Given the description of an element on the screen output the (x, y) to click on. 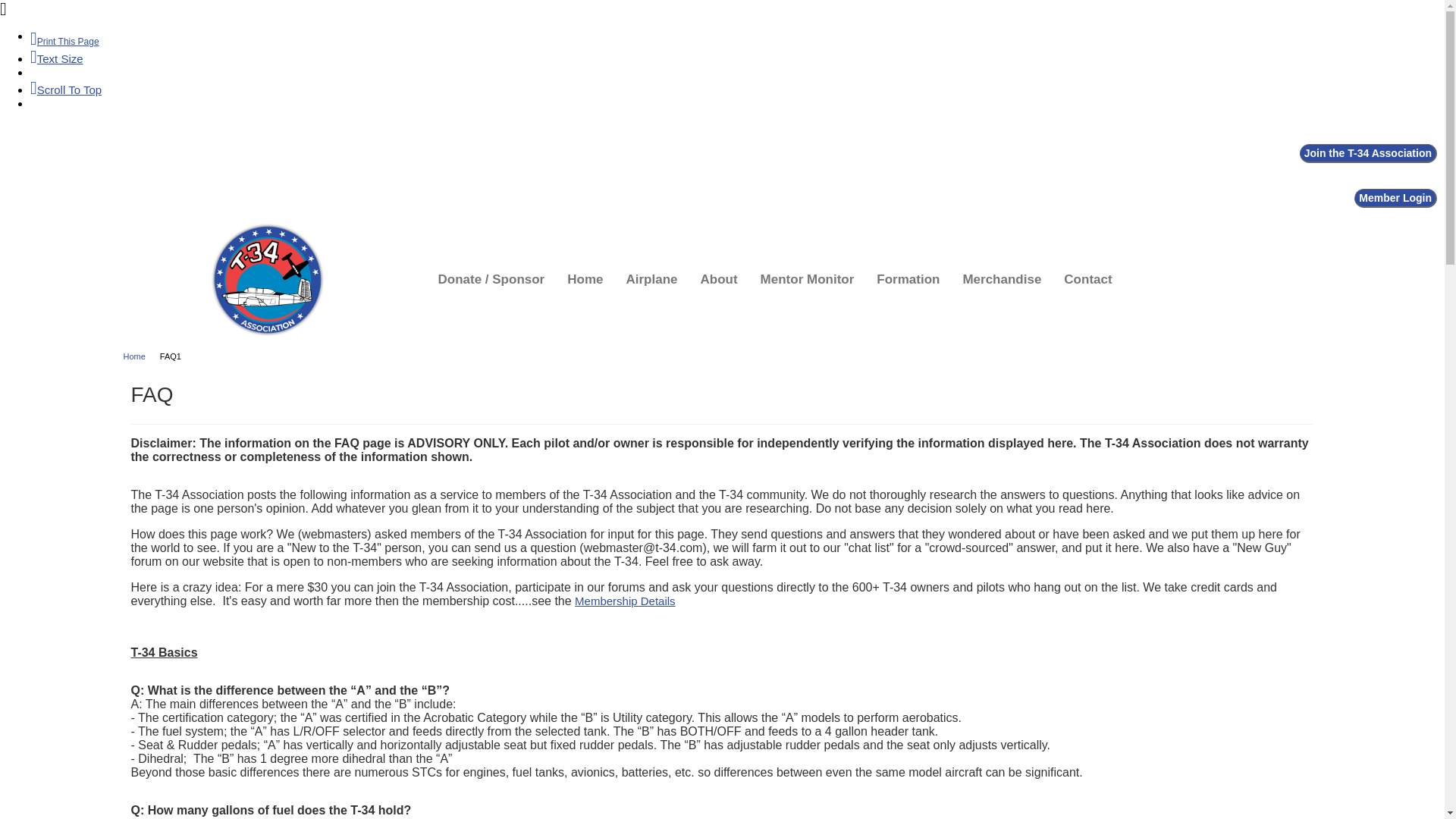
Visit us on X (39, 153)
Formation (908, 279)
Member Login (1395, 198)
Contact (1088, 279)
Merchandise (1001, 279)
Join the T-34 Association (1368, 153)
Visit us on Facebook (16, 153)
Text Size (56, 58)
Home (584, 279)
Home (138, 356)
Click here for more sharing options (61, 153)
Membership Details (625, 600)
Go To Top (65, 89)
Print (64, 41)
